Given the description of an element on the screen output the (x, y) to click on. 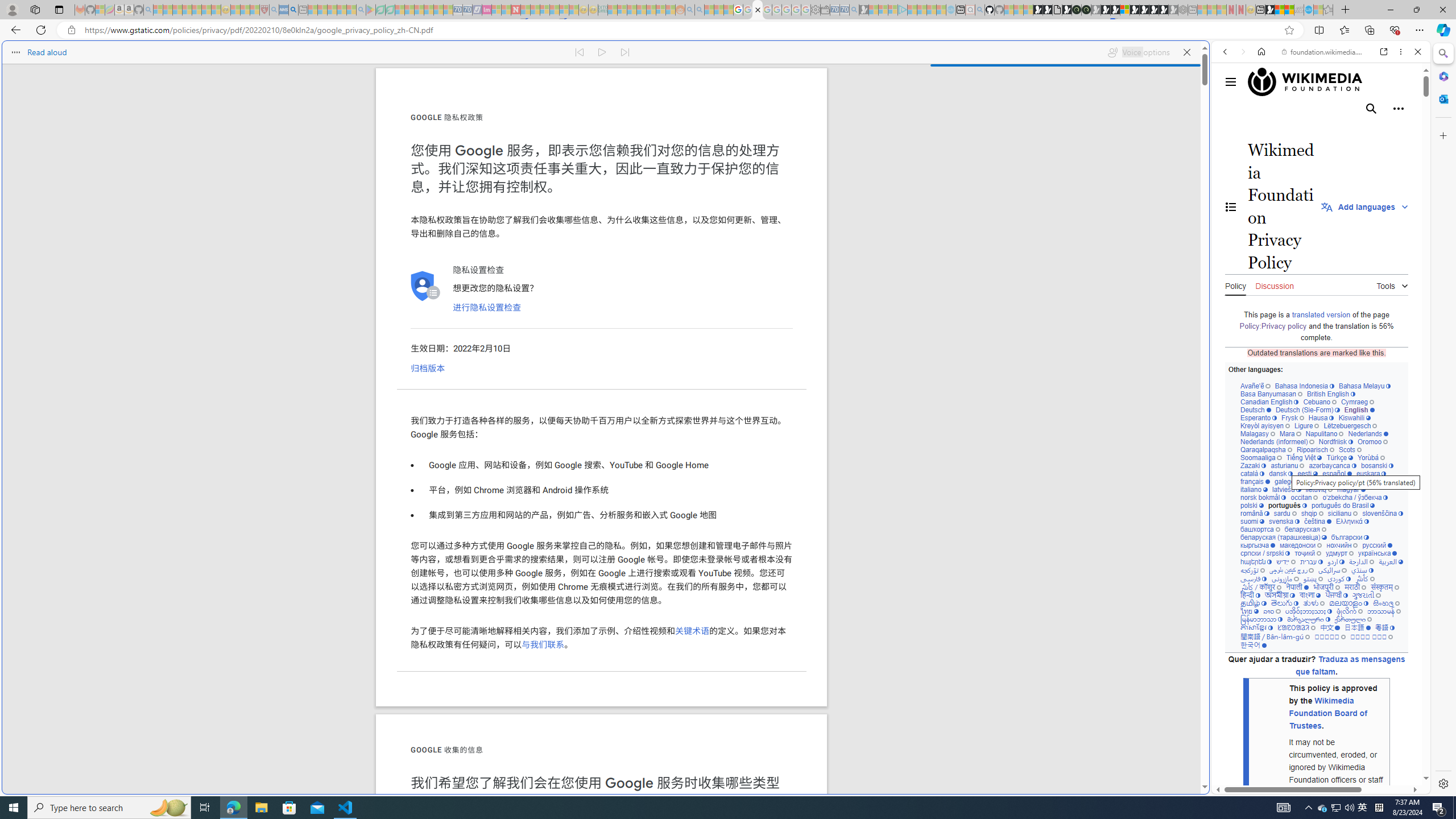
interlingua (1357, 481)
Pets - MSN - Sleeping (340, 9)
Microsoft Start Gaming - Sleeping (863, 9)
Deutsch (Sie-Form) (1307, 409)
Close split screen (1208, 57)
MSN (1269, 9)
foundation.wikimedia.org (1323, 51)
